Given the description of an element on the screen output the (x, y) to click on. 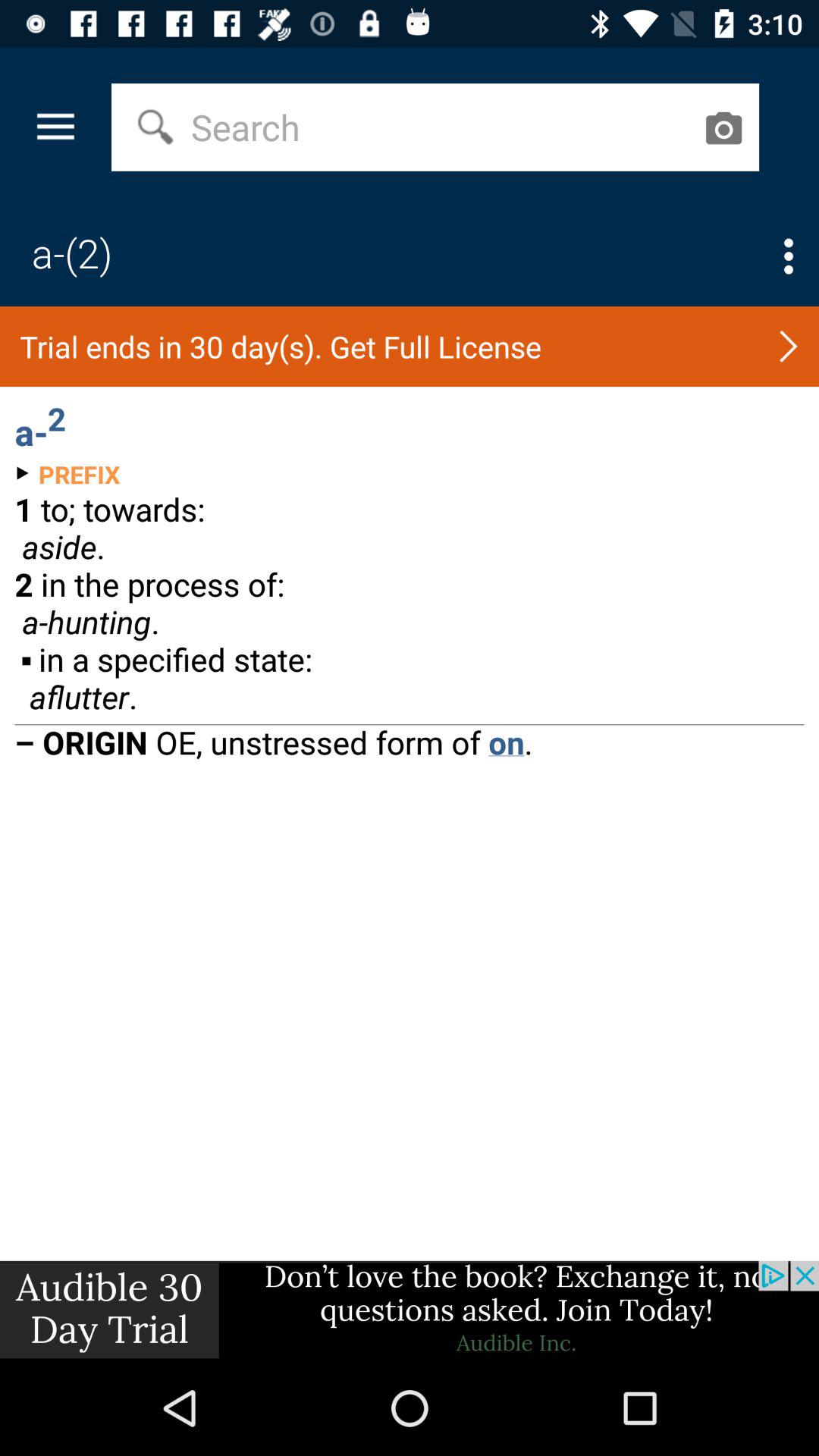
go to advertisement (409, 1310)
